Given the description of an element on the screen output the (x, y) to click on. 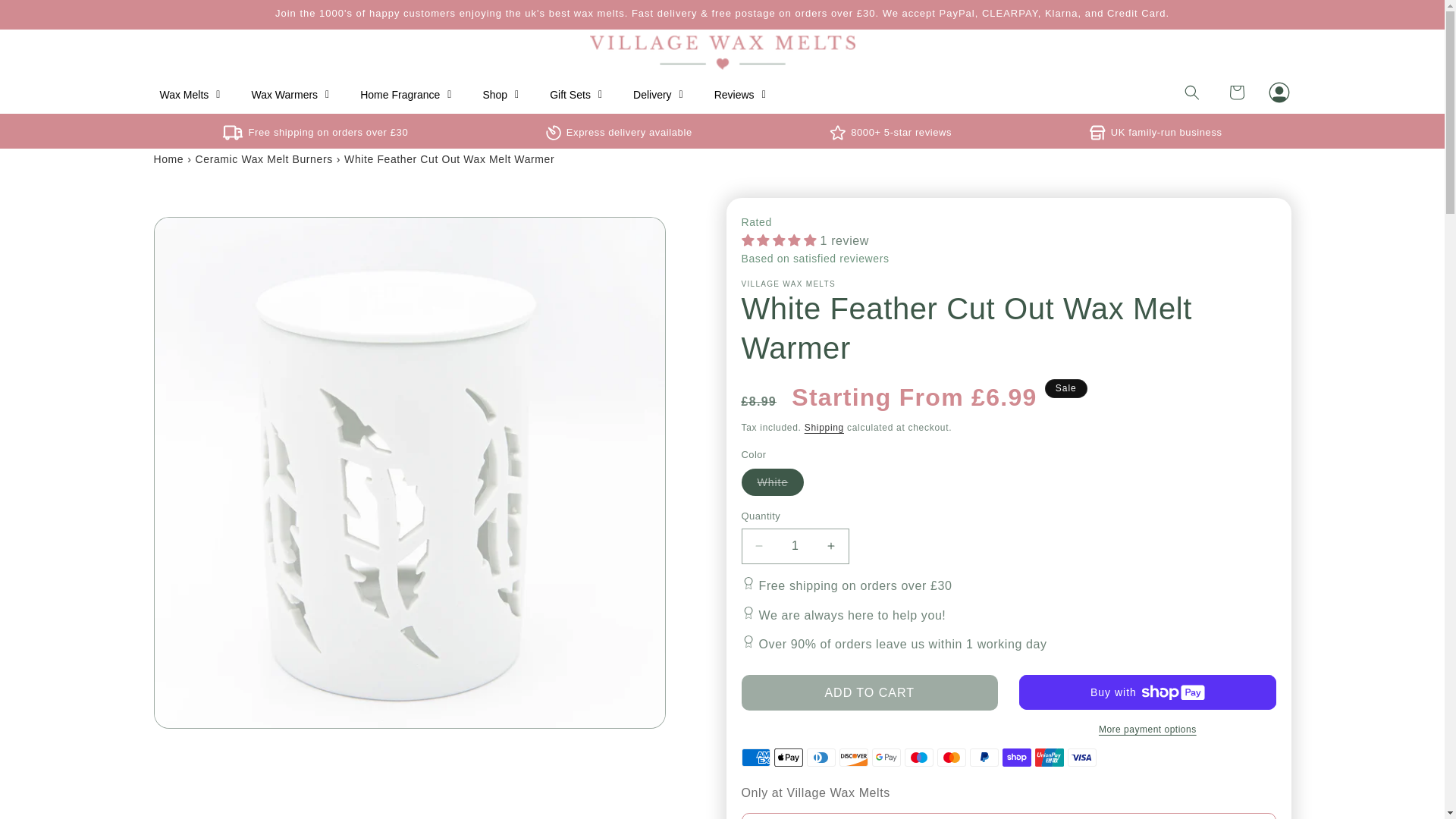
American Express (755, 757)
Maestro (918, 757)
Apple Pay (788, 757)
PayPal (983, 757)
Skip to content (45, 17)
Google Pay (886, 757)
Shop Pay (1016, 757)
1 (794, 546)
Diners Club (820, 757)
